Given the description of an element on the screen output the (x, y) to click on. 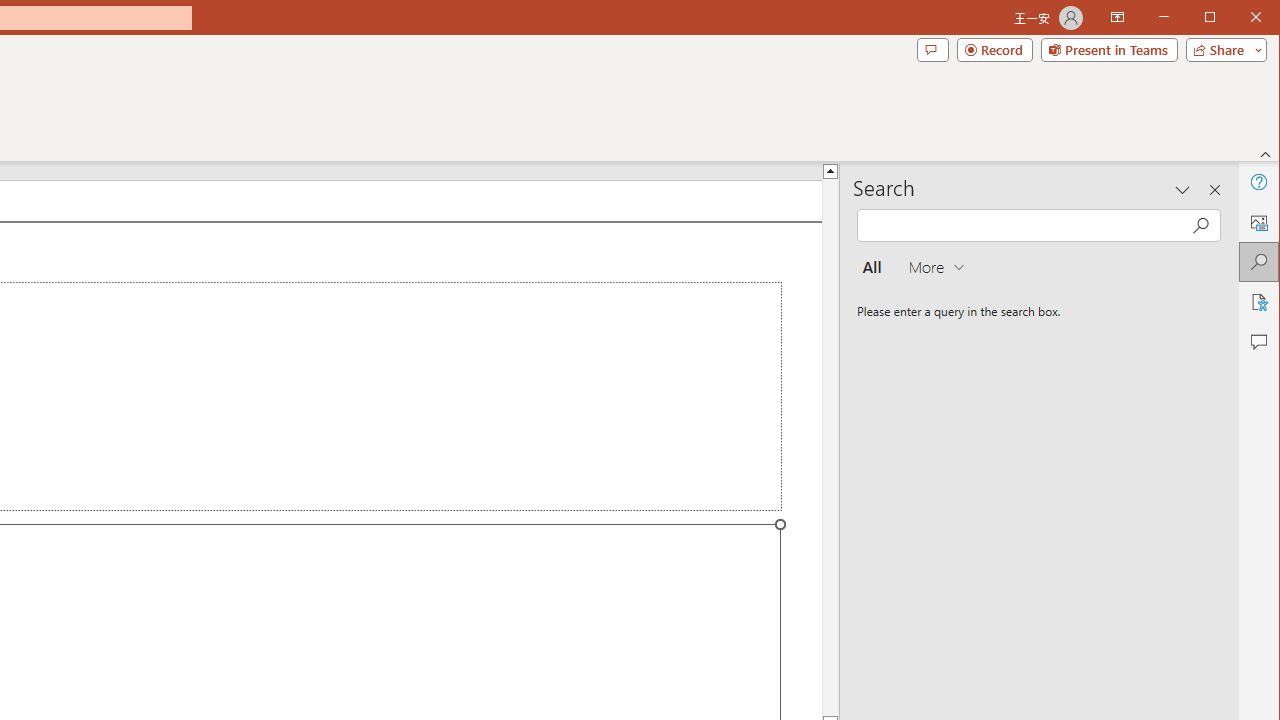
Close (1261, 18)
Comments (932, 49)
Maximize (1238, 18)
